Given the description of an element on the screen output the (x, y) to click on. 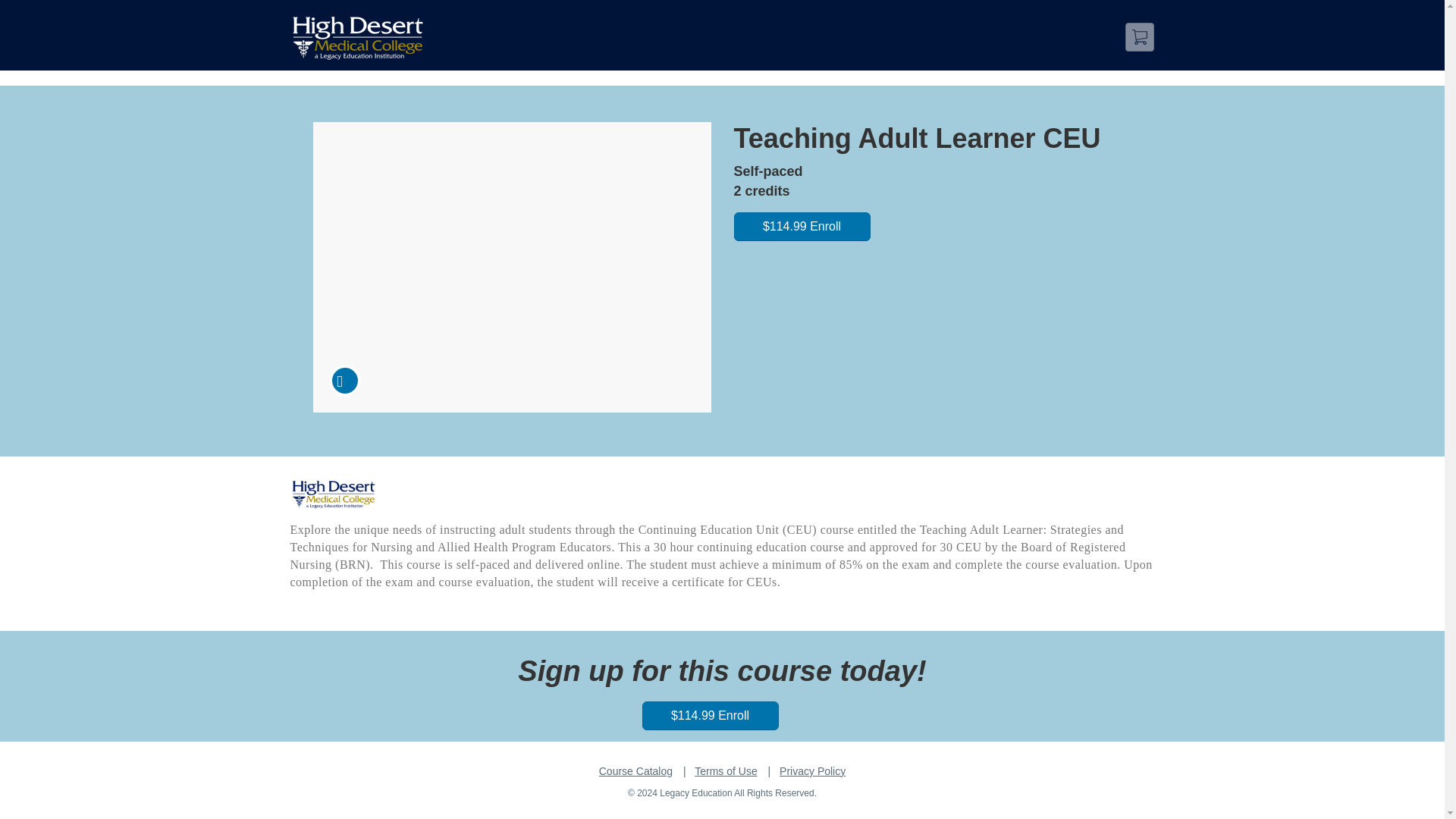
Cart (1139, 36)
Privacy Policy (811, 770)
Course Catalog (635, 770)
High Desert Medical College (332, 494)
Course (345, 380)
Terms of Use (725, 770)
